Given the description of an element on the screen output the (x, y) to click on. 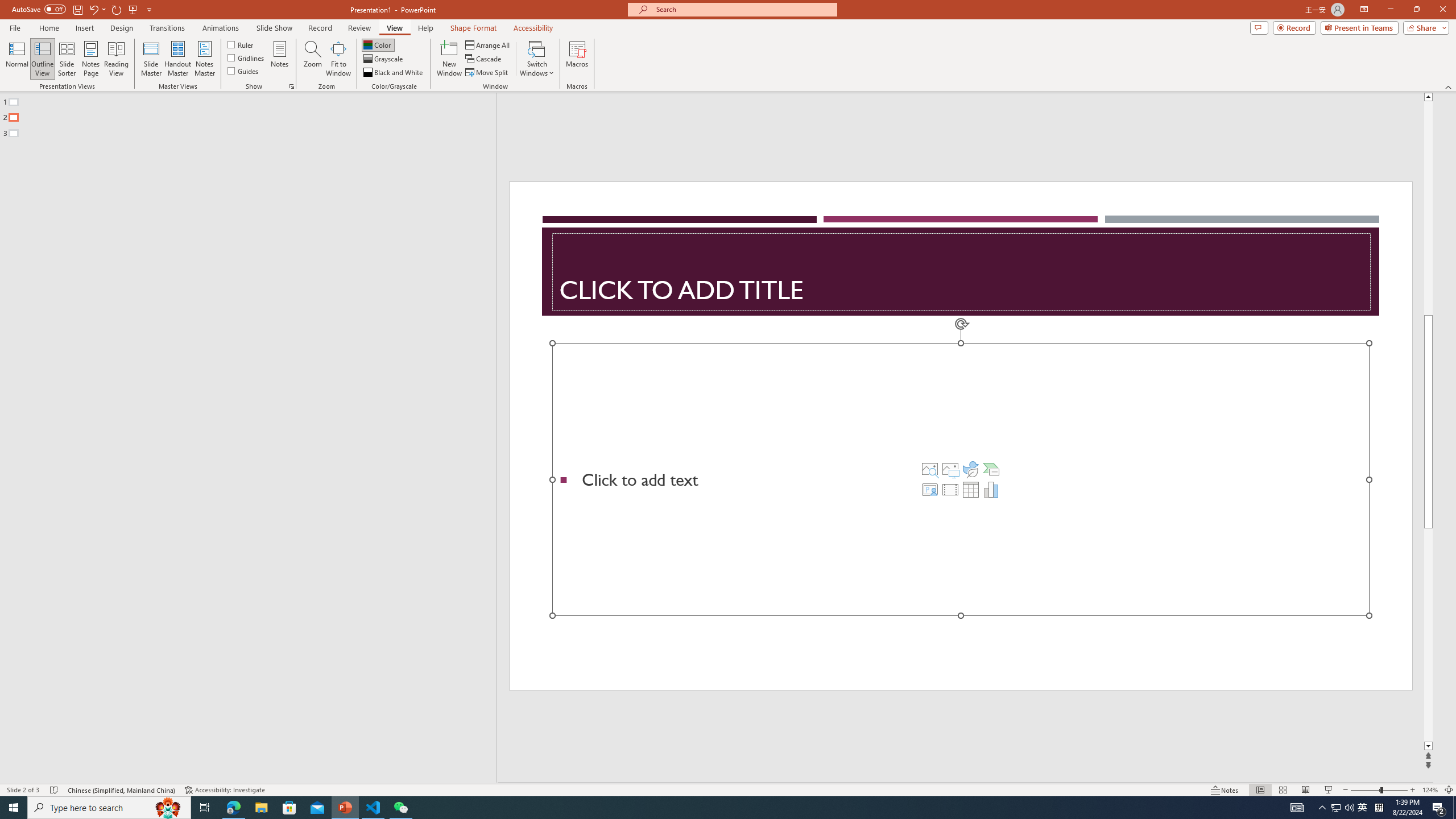
Move Split (487, 72)
Grid Settings... (291, 85)
Zoom 124% (1430, 790)
